Given the description of an element on the screen output the (x, y) to click on. 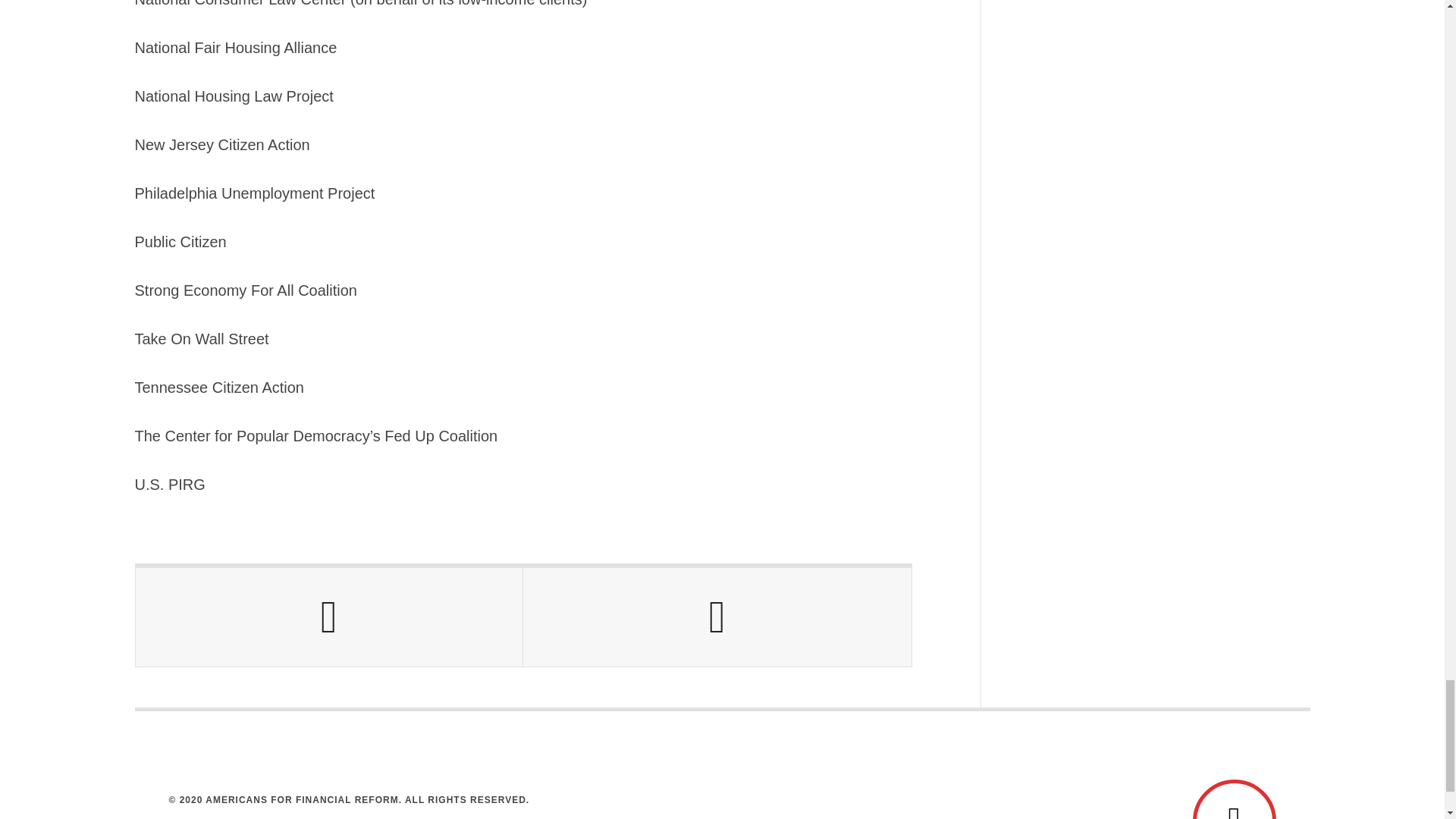
Previous Post (328, 617)
Next Post (716, 617)
